Given the description of an element on the screen output the (x, y) to click on. 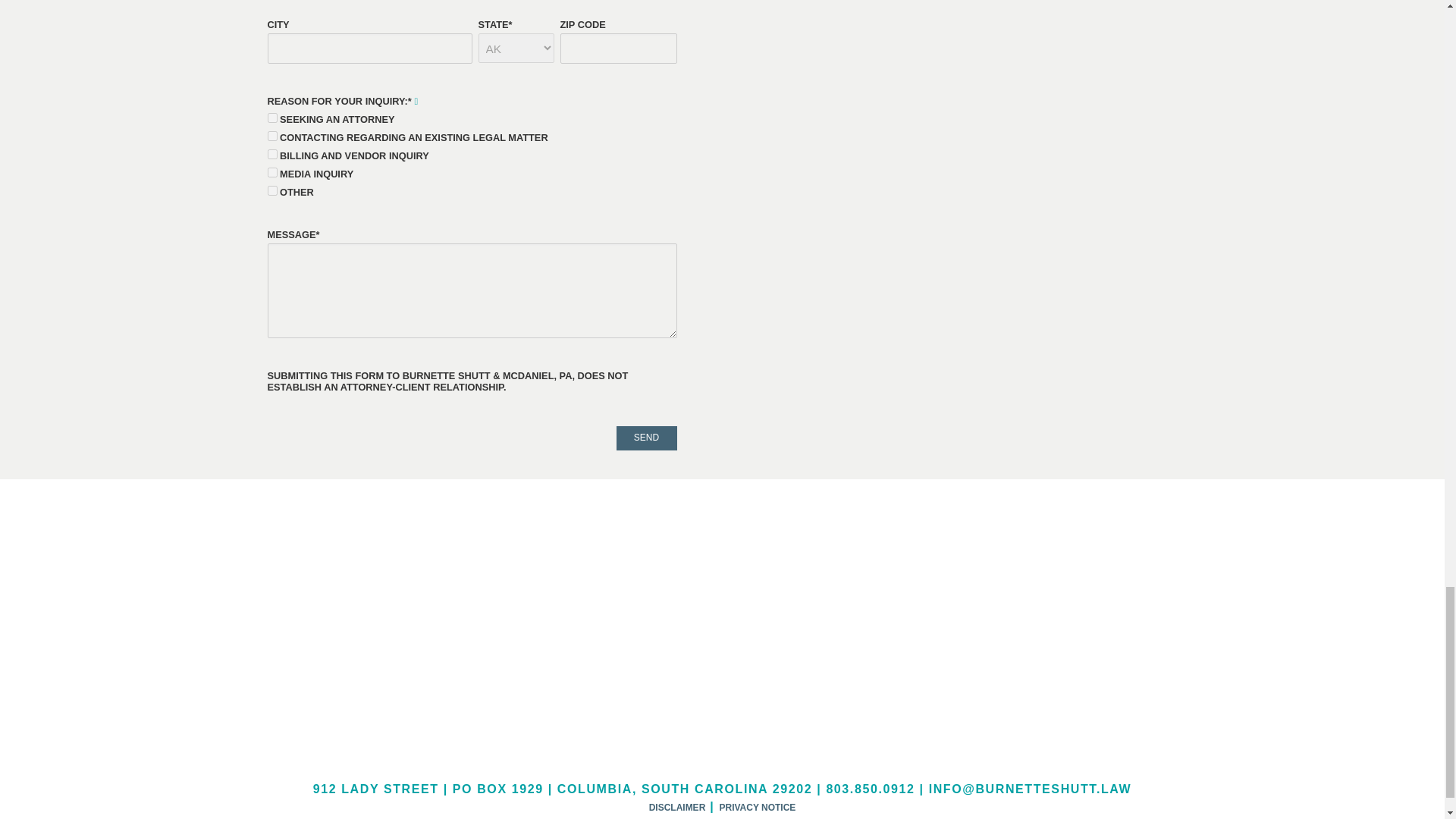
Contacting regarding an existing legal matter (271, 135)
Billing and Vendor inquiry (271, 153)
Seeking an attorney (271, 117)
Media inquiry (271, 172)
Other (271, 190)
